Given the description of an element on the screen output the (x, y) to click on. 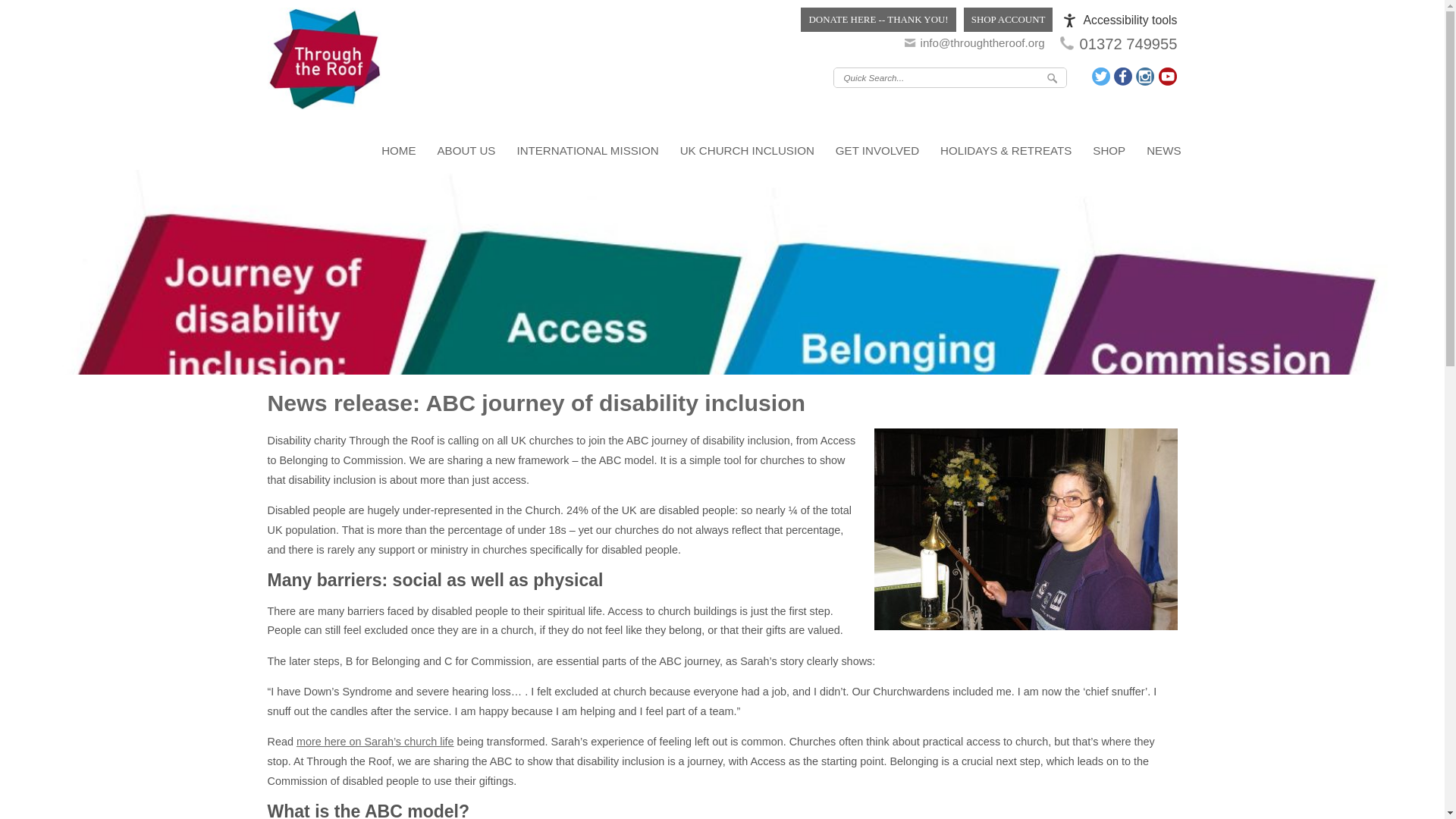
follow us on Twitter (1102, 76)
UK CHURCH INCLUSION (747, 150)
Follow us on Instagram (1145, 76)
Follow us on Instagram (1145, 76)
HOME (398, 150)
DONATE HERE -- THANK YOU! (877, 19)
Join us on Youtube (1166, 76)
01372 749955 (1128, 44)
search (1051, 77)
search (1051, 77)
INTERNATIONAL MISSION (586, 150)
Follow us on Twitter (1102, 76)
Choose your viewing style (1120, 20)
Join us on Facebook (1122, 76)
